Given the description of an element on the screen output the (x, y) to click on. 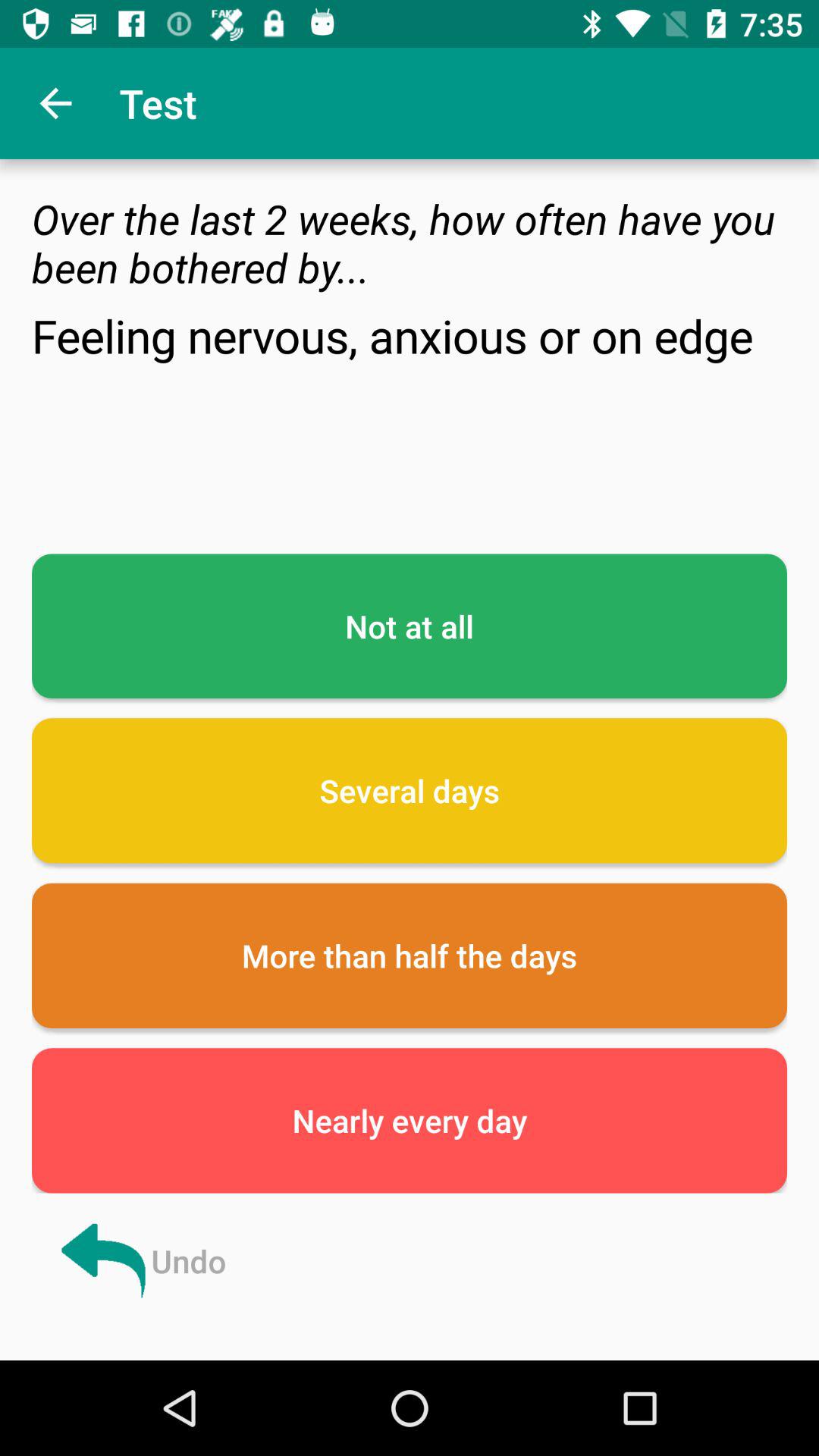
scroll to the nearly every day item (409, 1120)
